Given the description of an element on the screen output the (x, y) to click on. 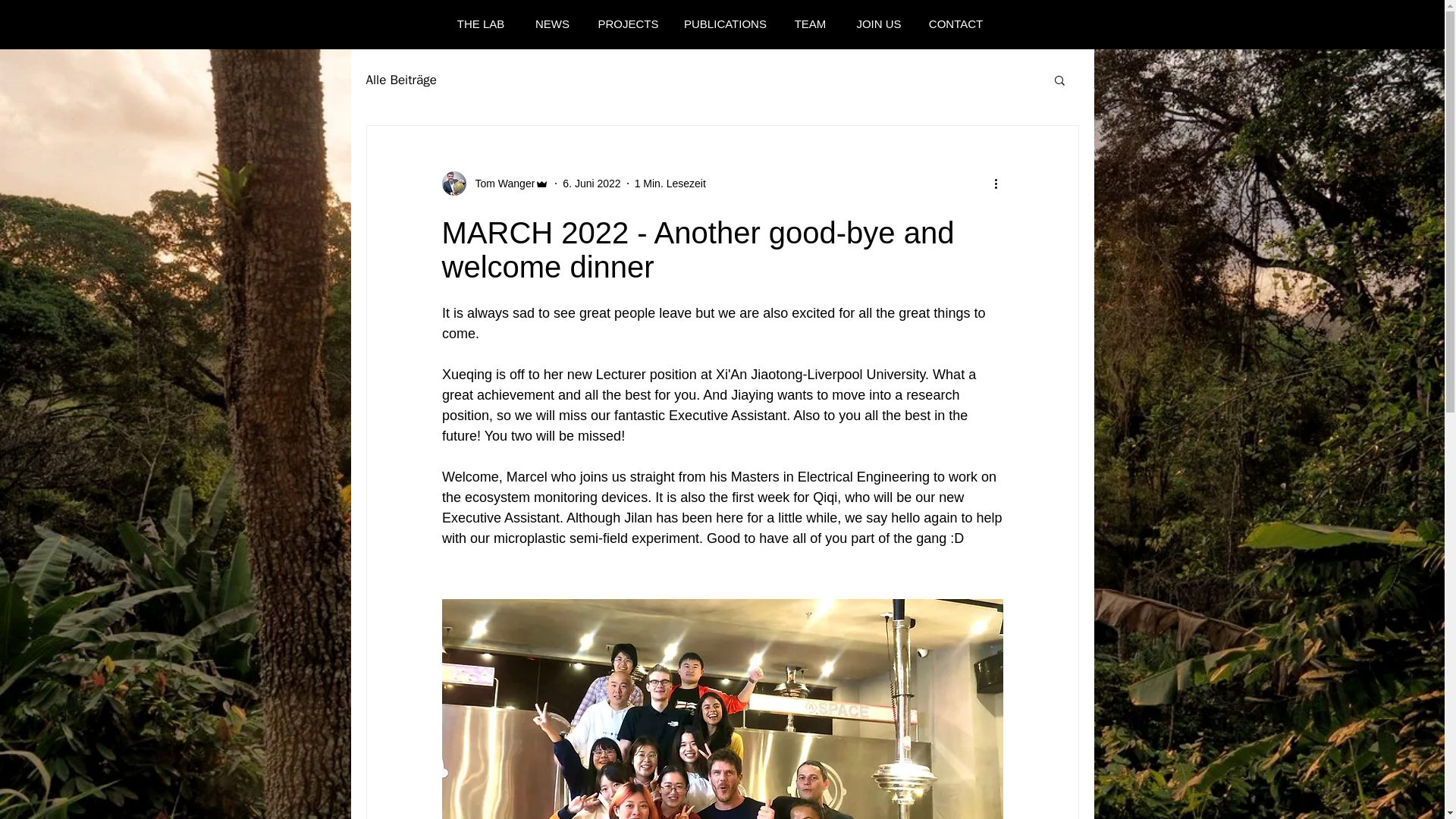
PROJECTS (628, 24)
CONTACT (954, 24)
PUBLICATIONS (724, 24)
Tom Wanger (494, 183)
TEAM (809, 24)
1 Min. Lesezeit (670, 183)
THE LAB (480, 24)
Tom Wanger (499, 183)
6. Juni 2022 (591, 183)
NEWS (552, 24)
